Given the description of an element on the screen output the (x, y) to click on. 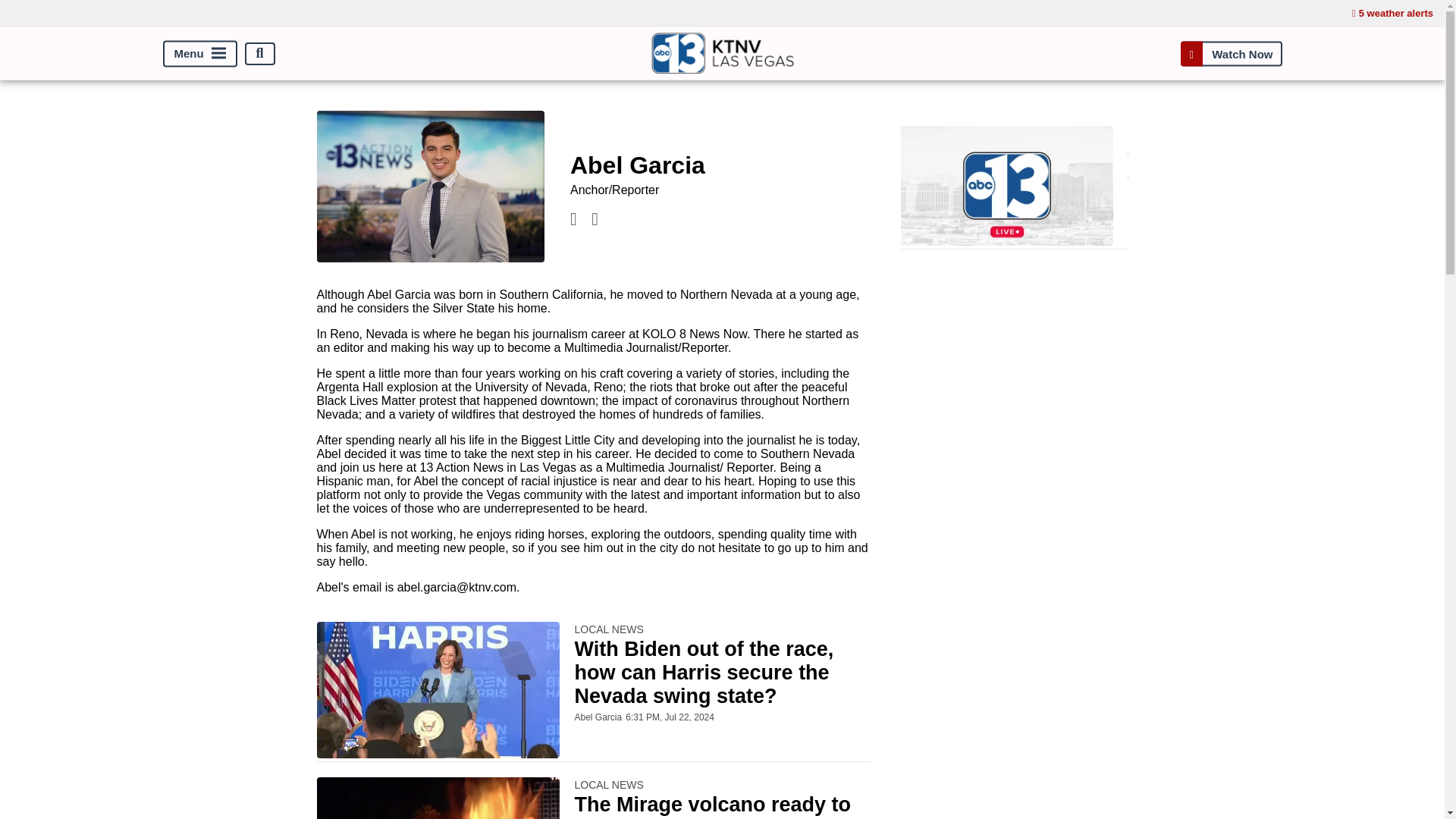
Watch Now (1230, 52)
Menu (198, 53)
